Given the description of an element on the screen output the (x, y) to click on. 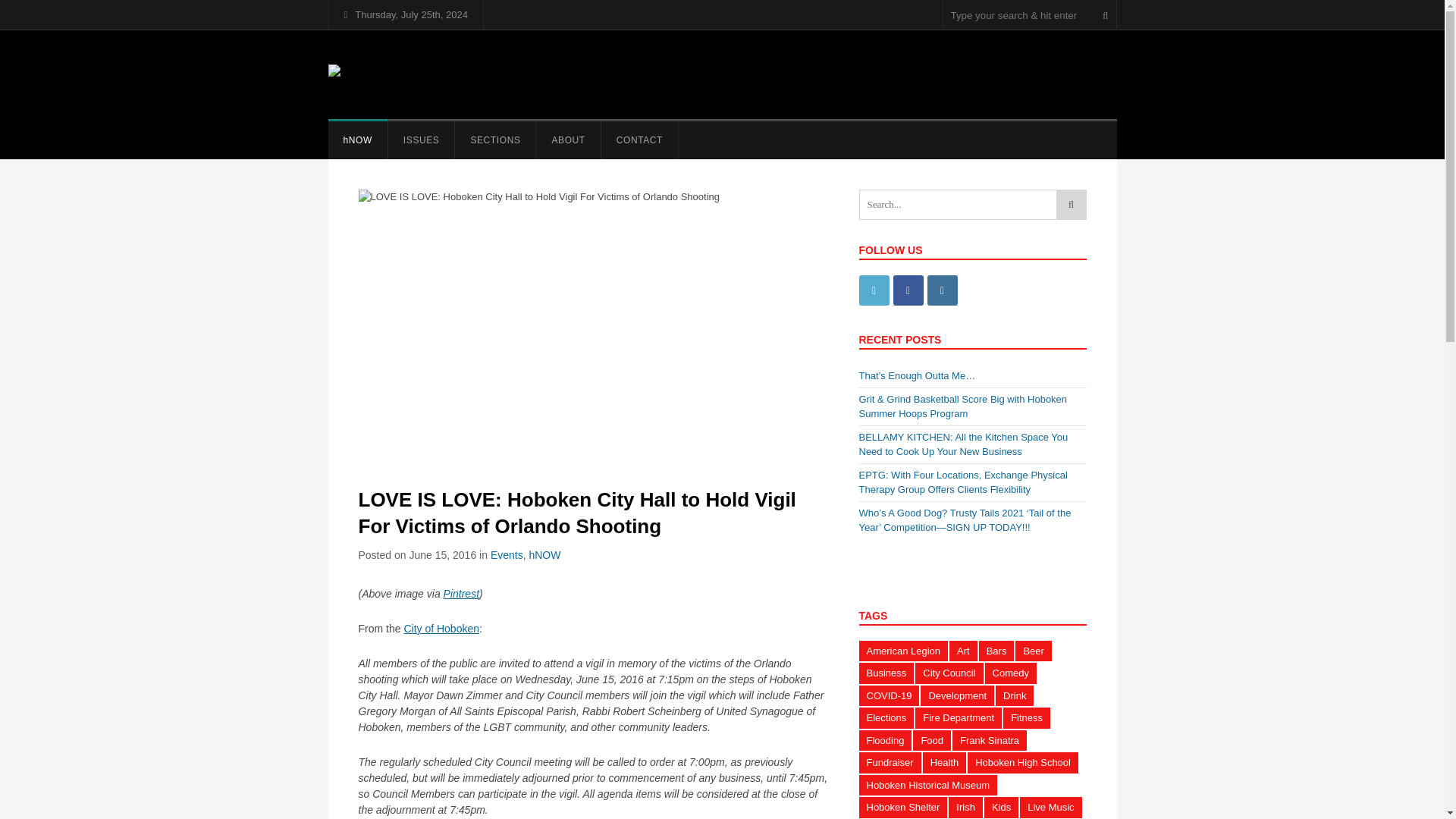
Events (506, 554)
Pintrest (461, 593)
Twitter (873, 290)
City of Hoboken (441, 628)
CONTACT (639, 139)
ABOUT (567, 139)
hNOW (544, 554)
SECTIONS (494, 139)
ISSUES (421, 139)
hmag (353, 74)
Facebook (908, 290)
Instagram (941, 290)
hNOW (357, 139)
